Given the description of an element on the screen output the (x, y) to click on. 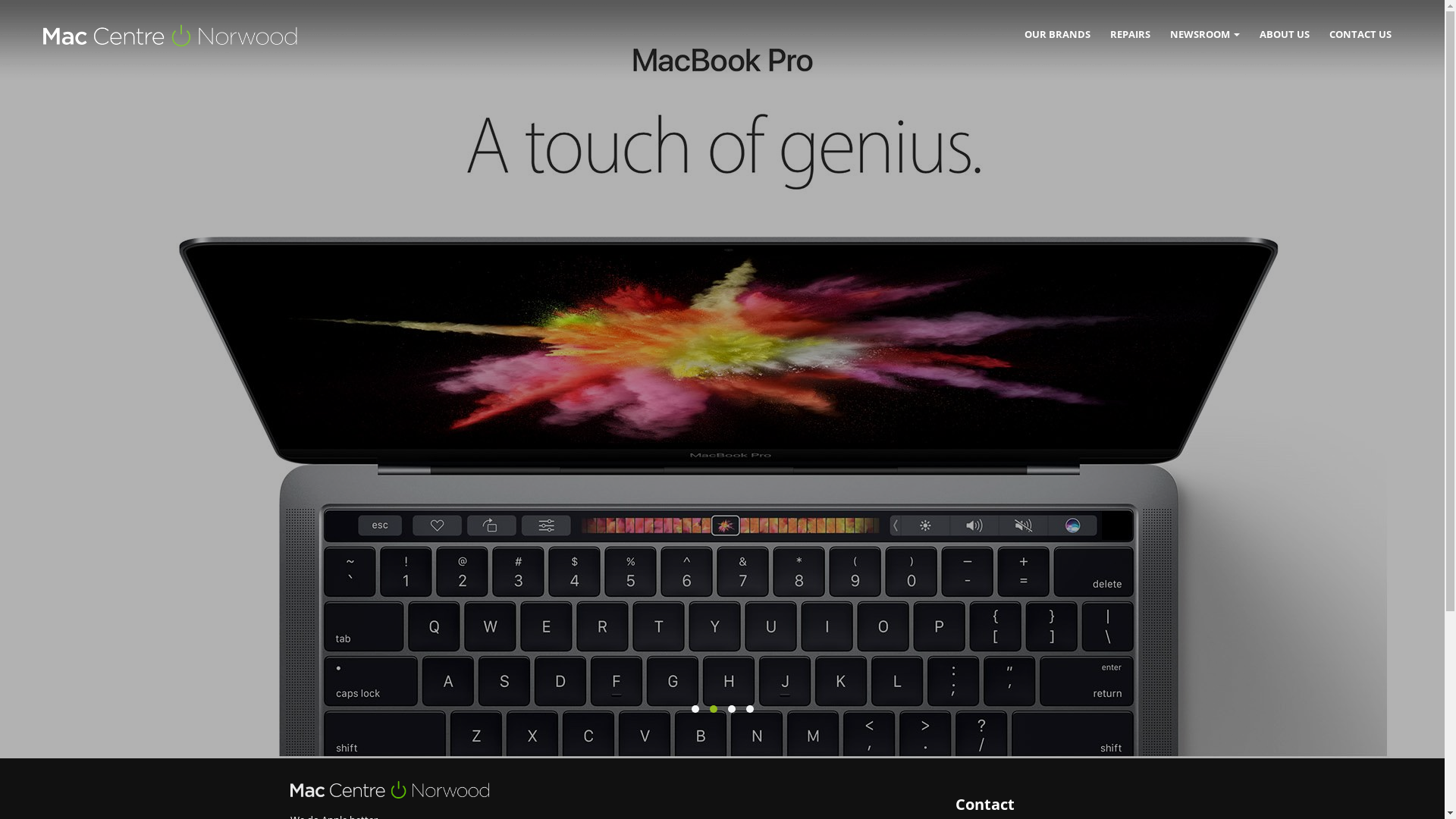
REPAIRS Element type: text (1130, 33)
NEWSROOM Element type: text (1204, 33)
CONTACT US Element type: text (1360, 33)
ABOUT US Element type: text (1284, 33)
OUR BRANDS Element type: text (1057, 33)
